Given the description of an element on the screen output the (x, y) to click on. 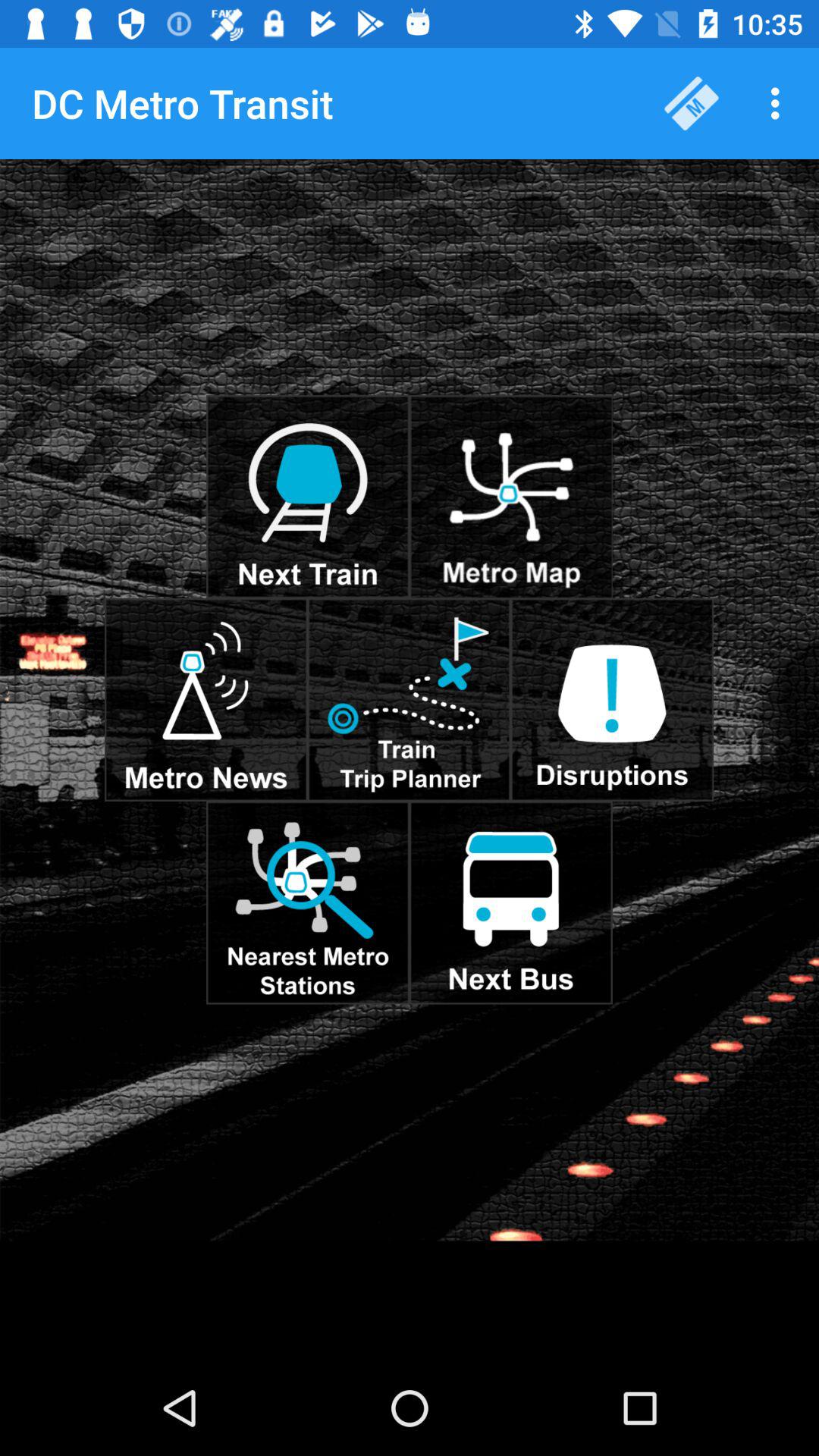
metro news option (205, 699)
